Given the description of an element on the screen output the (x, y) to click on. 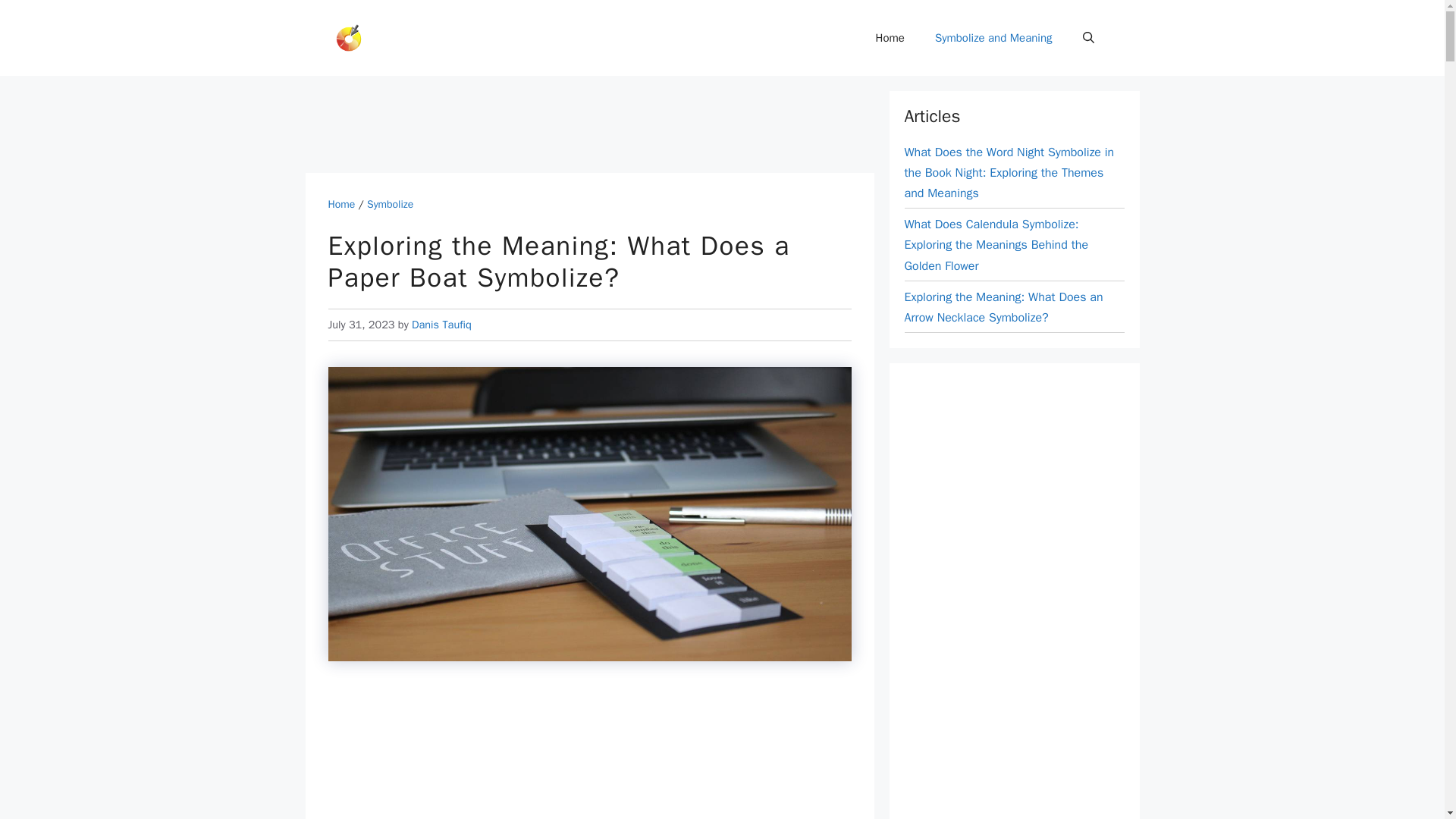
Home (890, 37)
Advertisement (589, 753)
Home (341, 204)
Symbolize (389, 204)
Danis Taufiq (441, 324)
Advertisement (580, 124)
Symbolize and Meaning (993, 37)
